Given the description of an element on the screen output the (x, y) to click on. 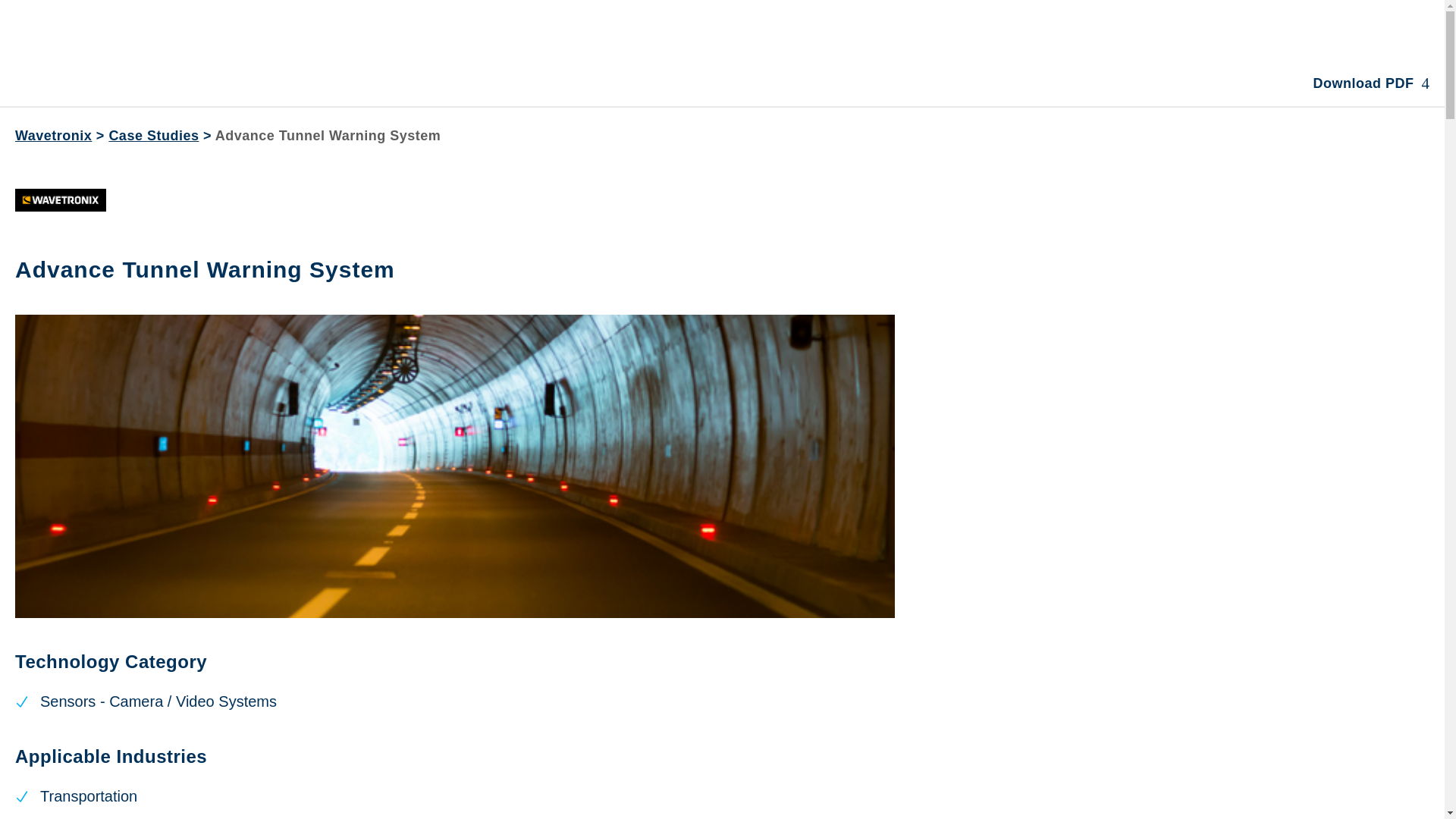
Wavetronix (52, 135)
Wavetronix Logo (60, 199)
Case Studies (152, 135)
